Given the description of an element on the screen output the (x, y) to click on. 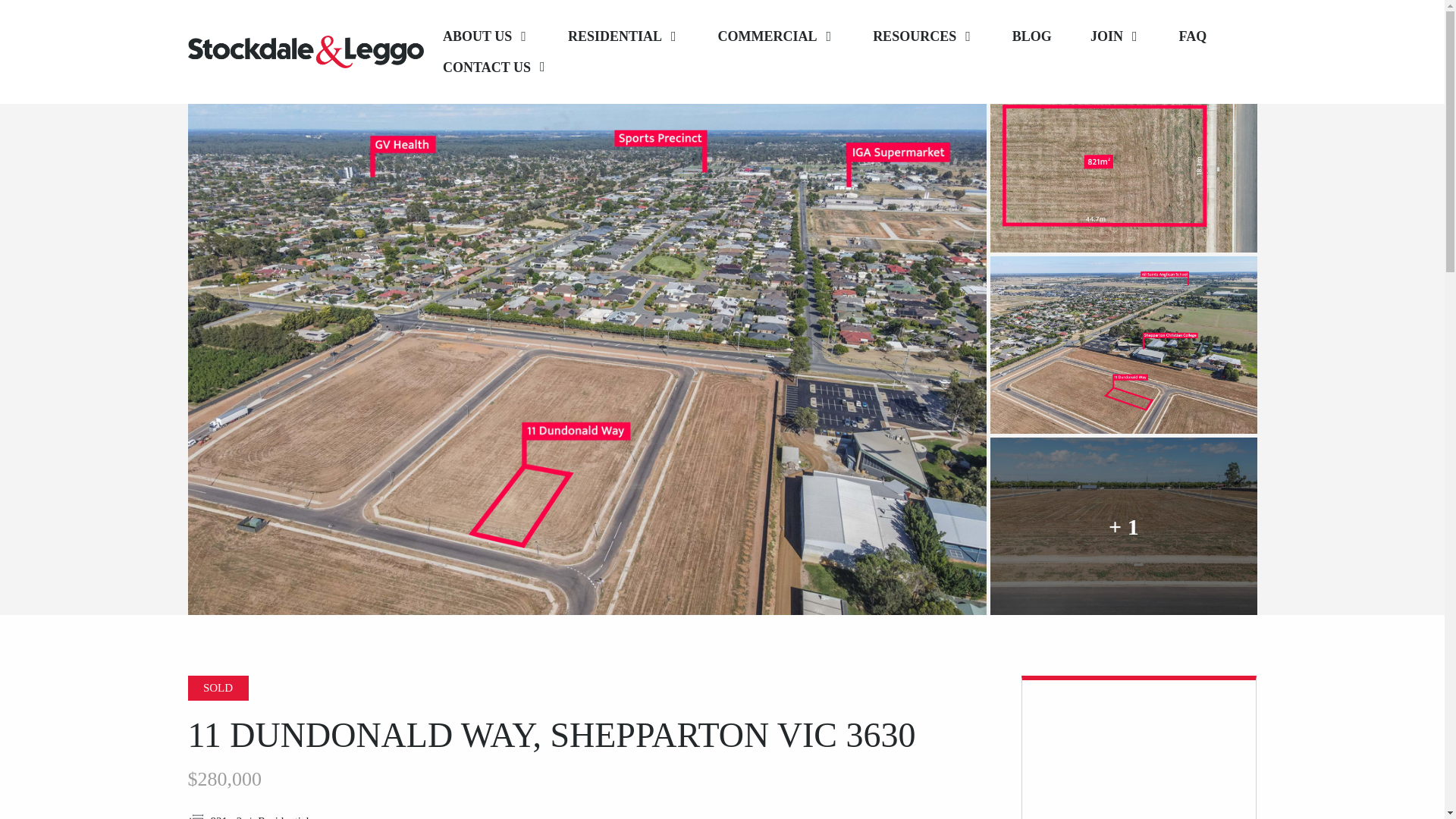
ABOUT US (485, 36)
